Given the description of an element on the screen output the (x, y) to click on. 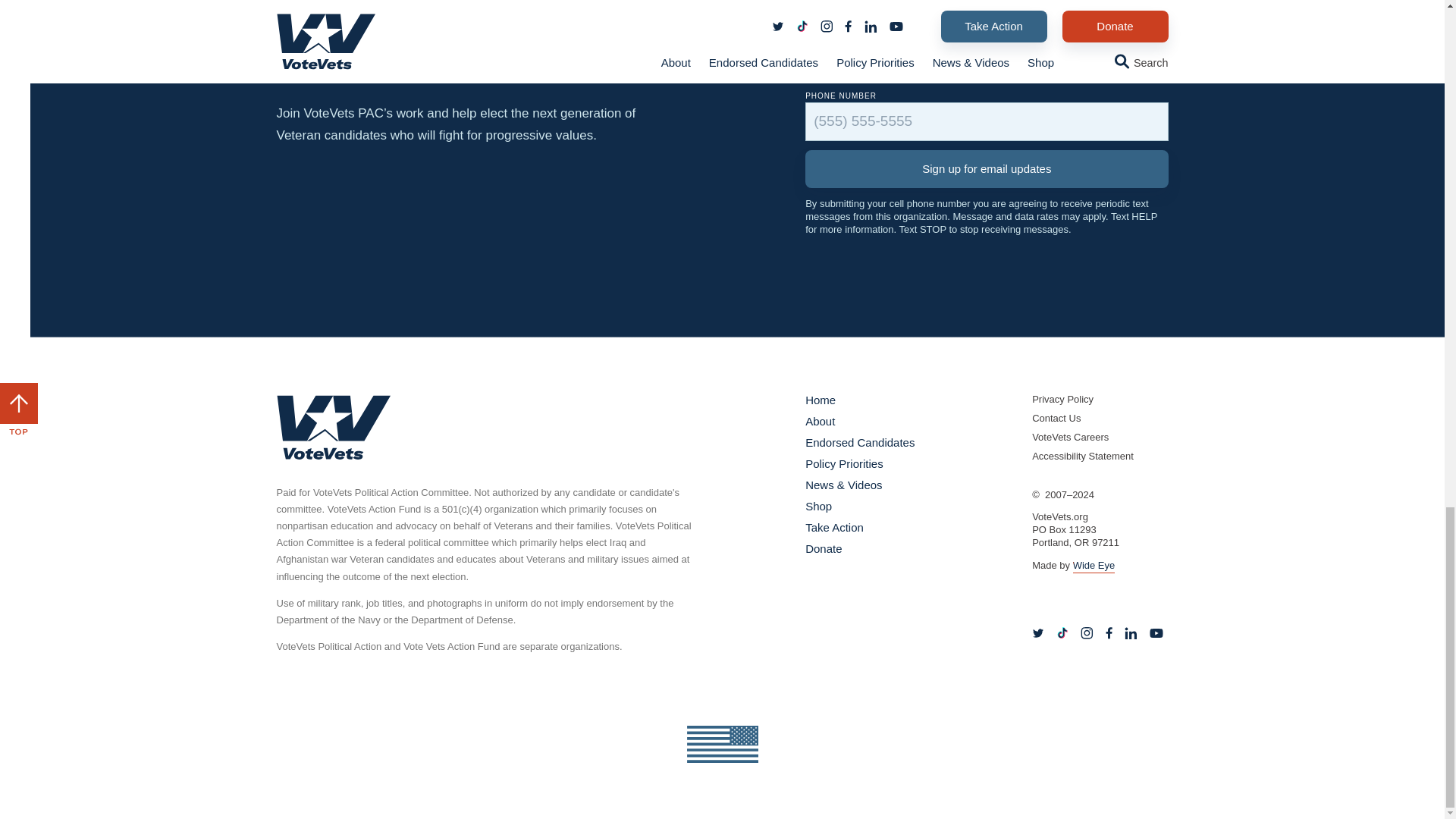
Return Home (333, 426)
